Given the description of an element on the screen output the (x, y) to click on. 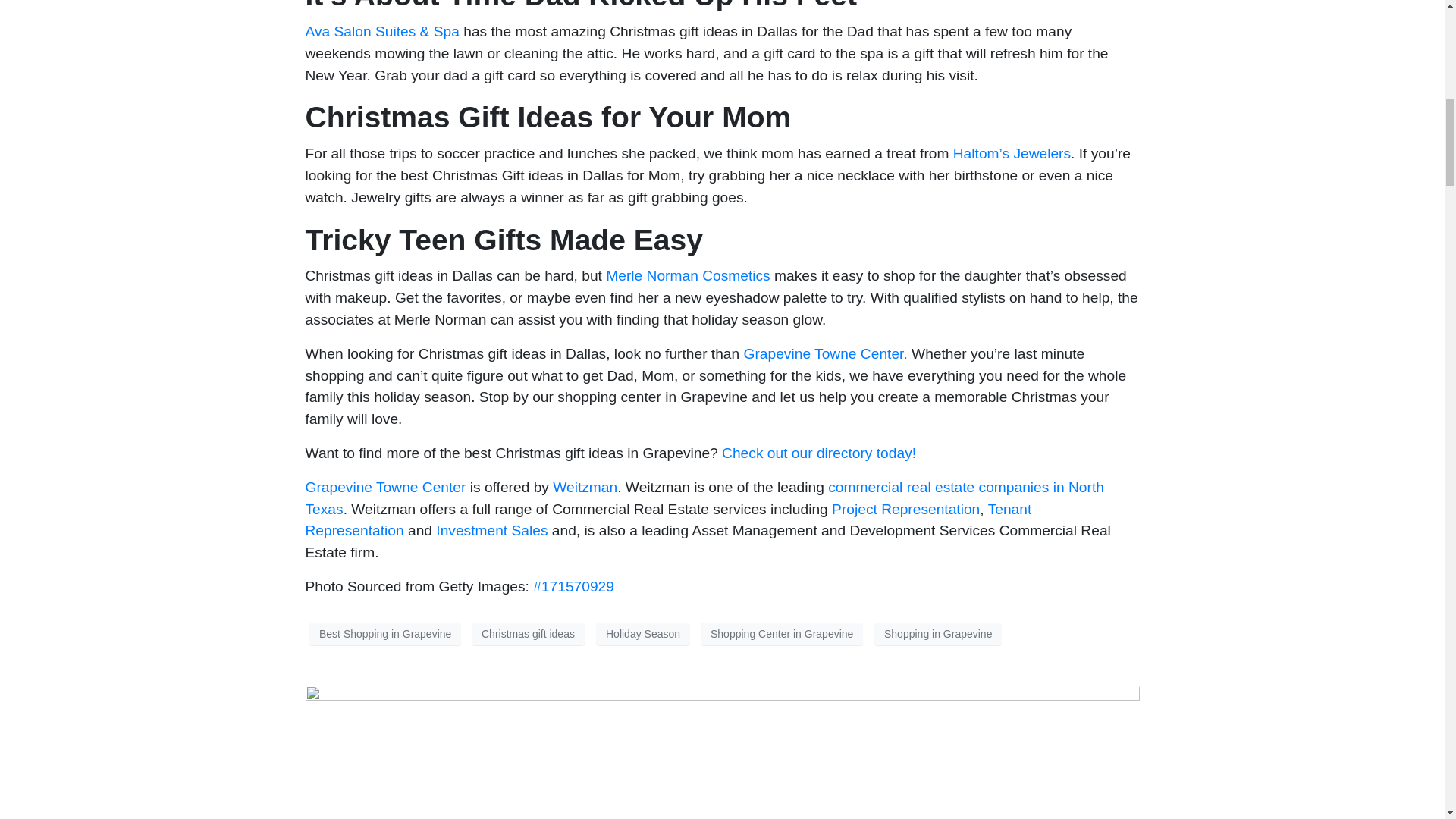
Christmas gift ideas (528, 633)
Grapevine Towne Center (384, 487)
Tenant Representation (667, 519)
Project Representation (905, 508)
Holiday Season (642, 633)
Best Shopping in Grapevine (384, 633)
Shopping in Grapevine (938, 633)
commercial real estate companies in North Texas (703, 497)
Check out our directory today! (818, 453)
Grapevine Towne Center. (828, 353)
Investment Sales (491, 530)
Shopping Center in Grapevine (781, 633)
Weitzman (585, 487)
Merle Norman Cosmetics (687, 275)
